Given the description of an element on the screen output the (x, y) to click on. 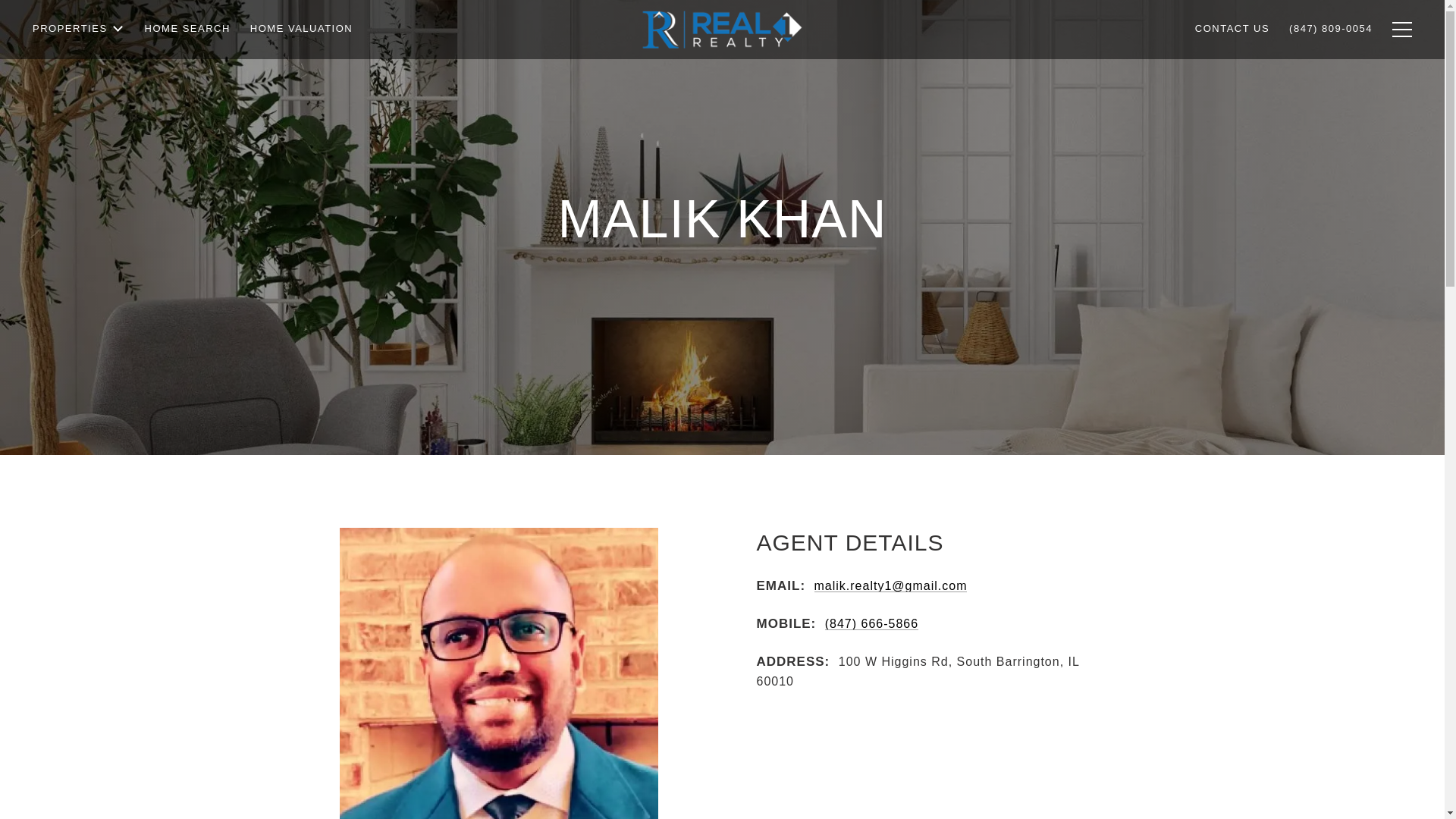
CONTACT US (1232, 60)
HOME VALUATION (301, 64)
PROPERTIES (79, 70)
HOME SEARCH (187, 66)
